Given the description of an element on the screen output the (x, y) to click on. 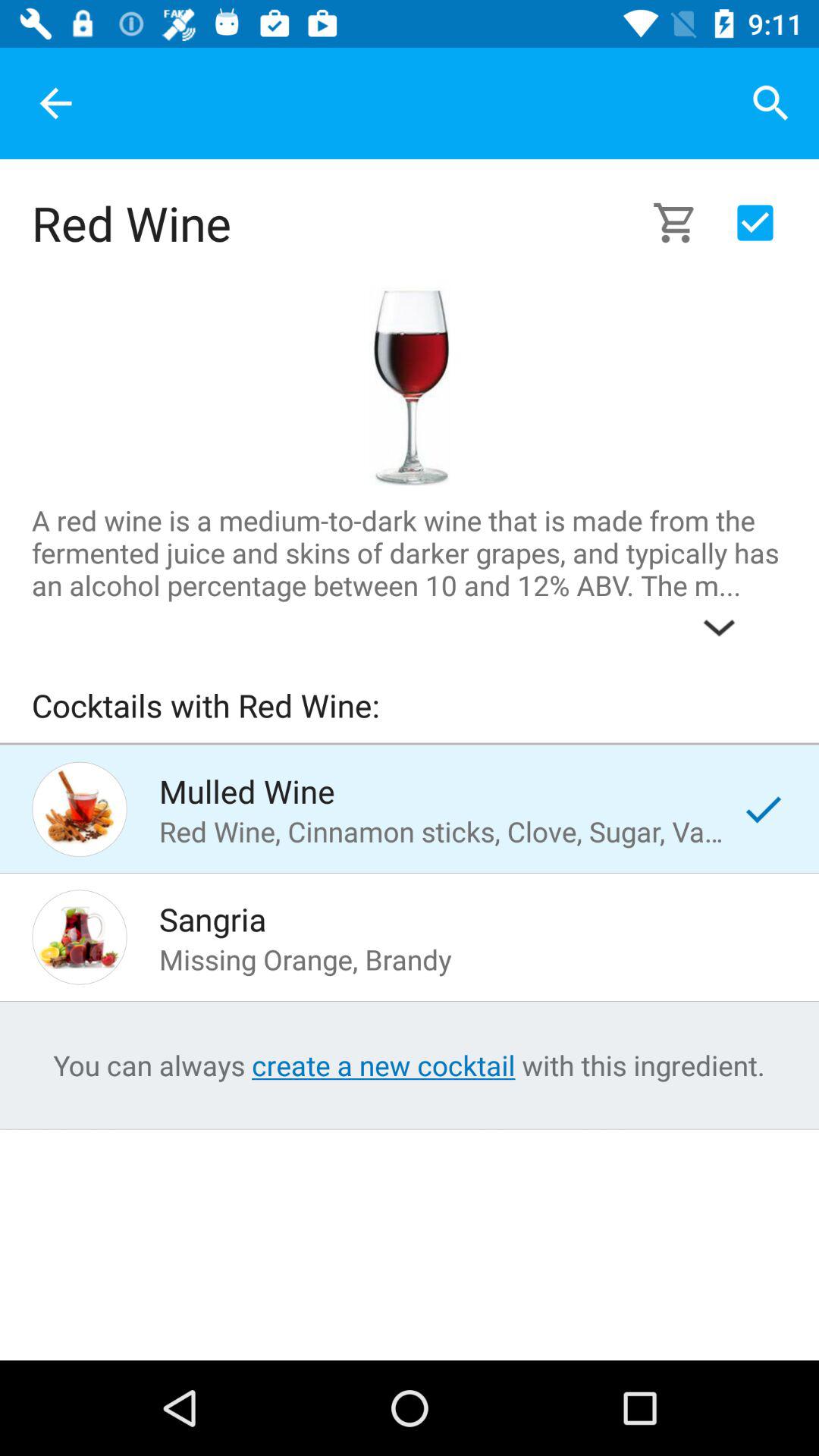
wine (408, 385)
